Given the description of an element on the screen output the (x, y) to click on. 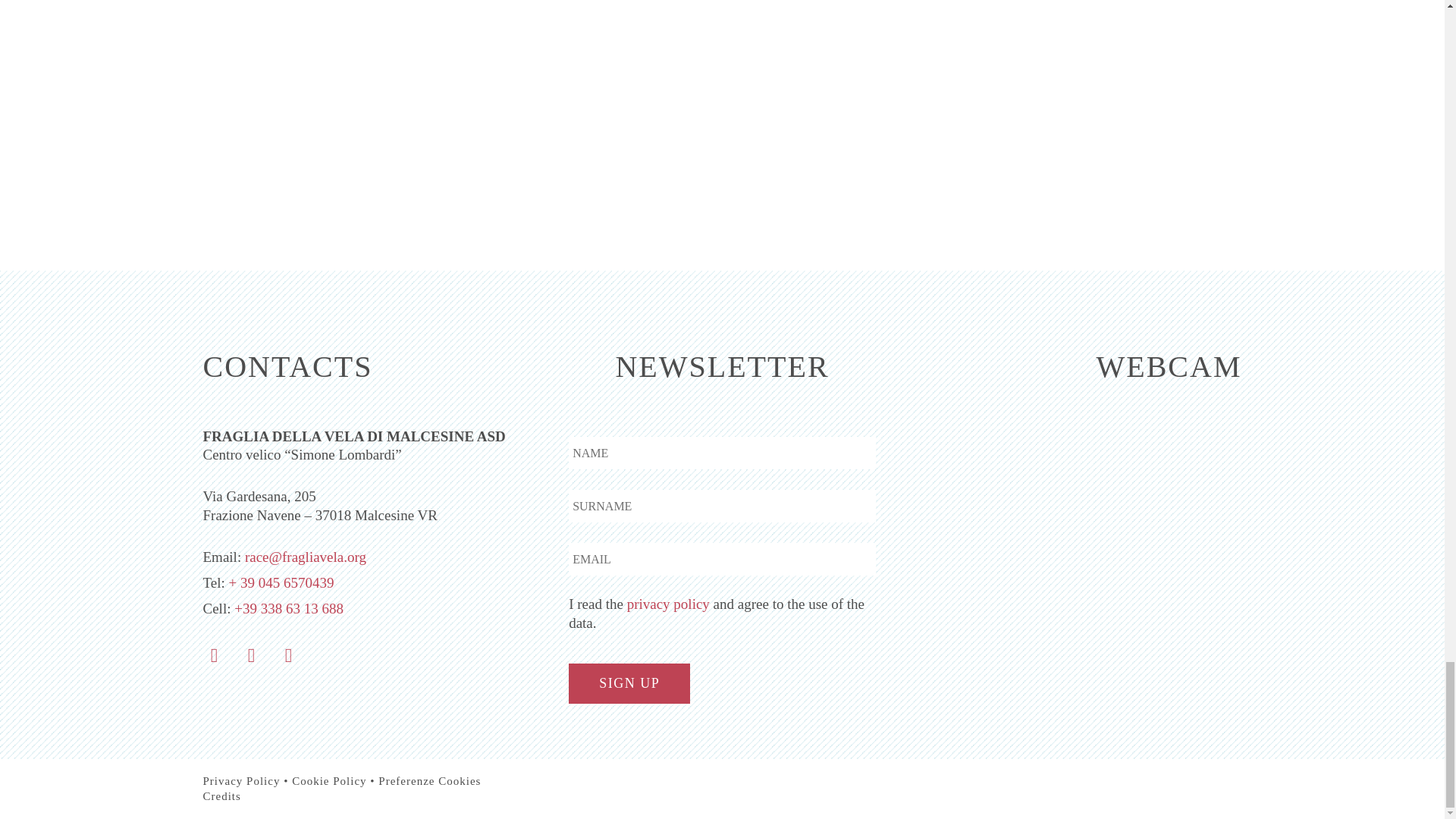
Instagram (250, 655)
Flickr (287, 655)
Cookie Policy  (329, 781)
Facebook (213, 655)
Privacy Policy  (242, 781)
